Given the description of an element on the screen output the (x, y) to click on. 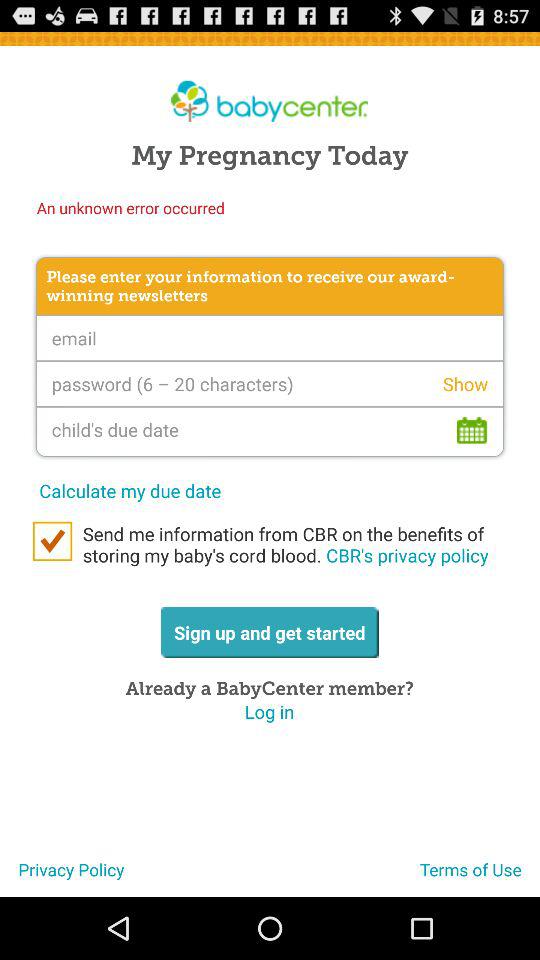
click the calculate my due app (130, 490)
